Given the description of an element on the screen output the (x, y) to click on. 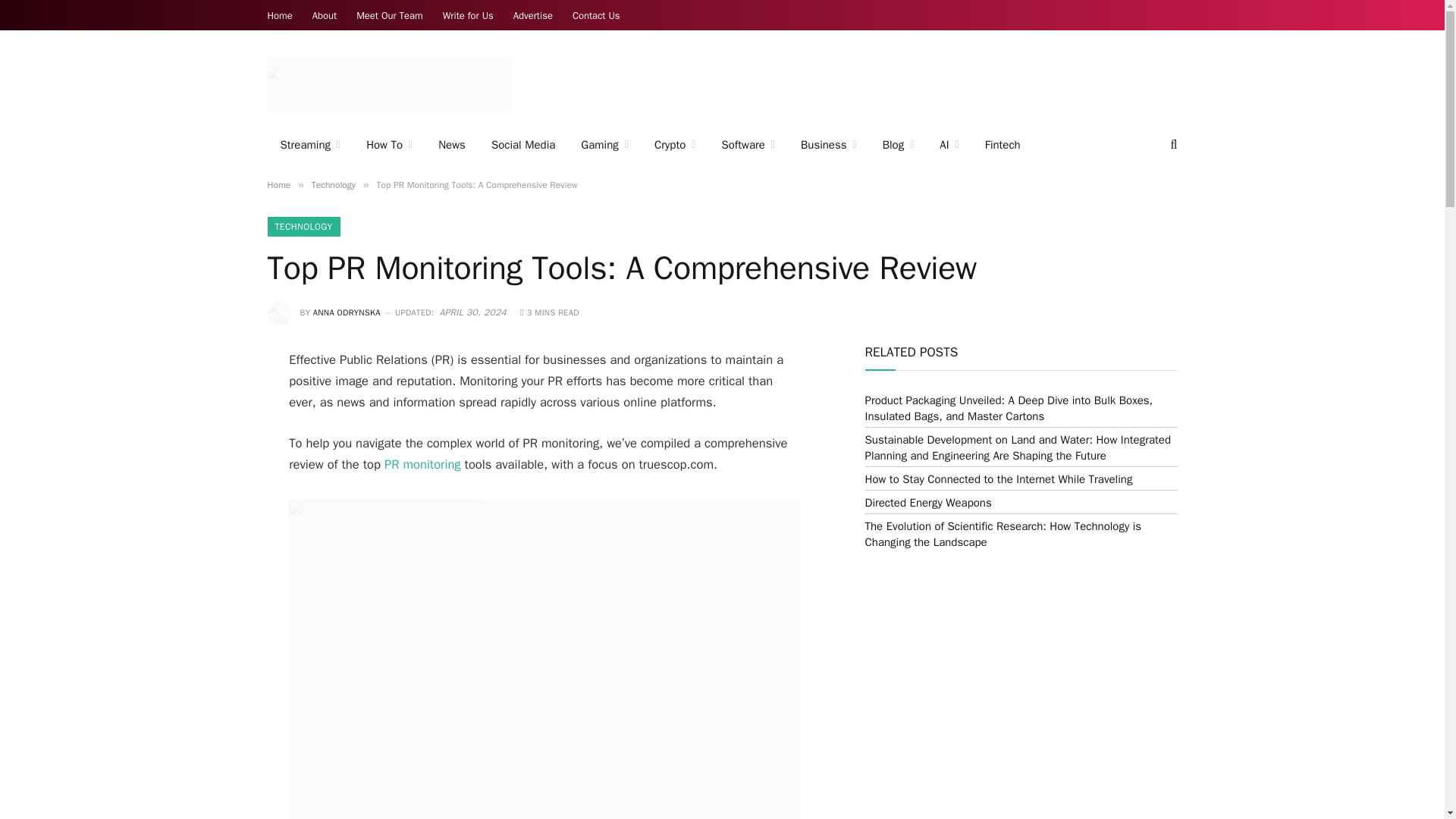
Advertise (532, 15)
Gaming (604, 144)
Meet Our Team (389, 15)
How To (389, 144)
Digital Connect Mag (388, 84)
About (324, 15)
Social Media (523, 144)
Posts by Anna Odrynska (346, 312)
Contact Us (596, 15)
News (452, 144)
